Given the description of an element on the screen output the (x, y) to click on. 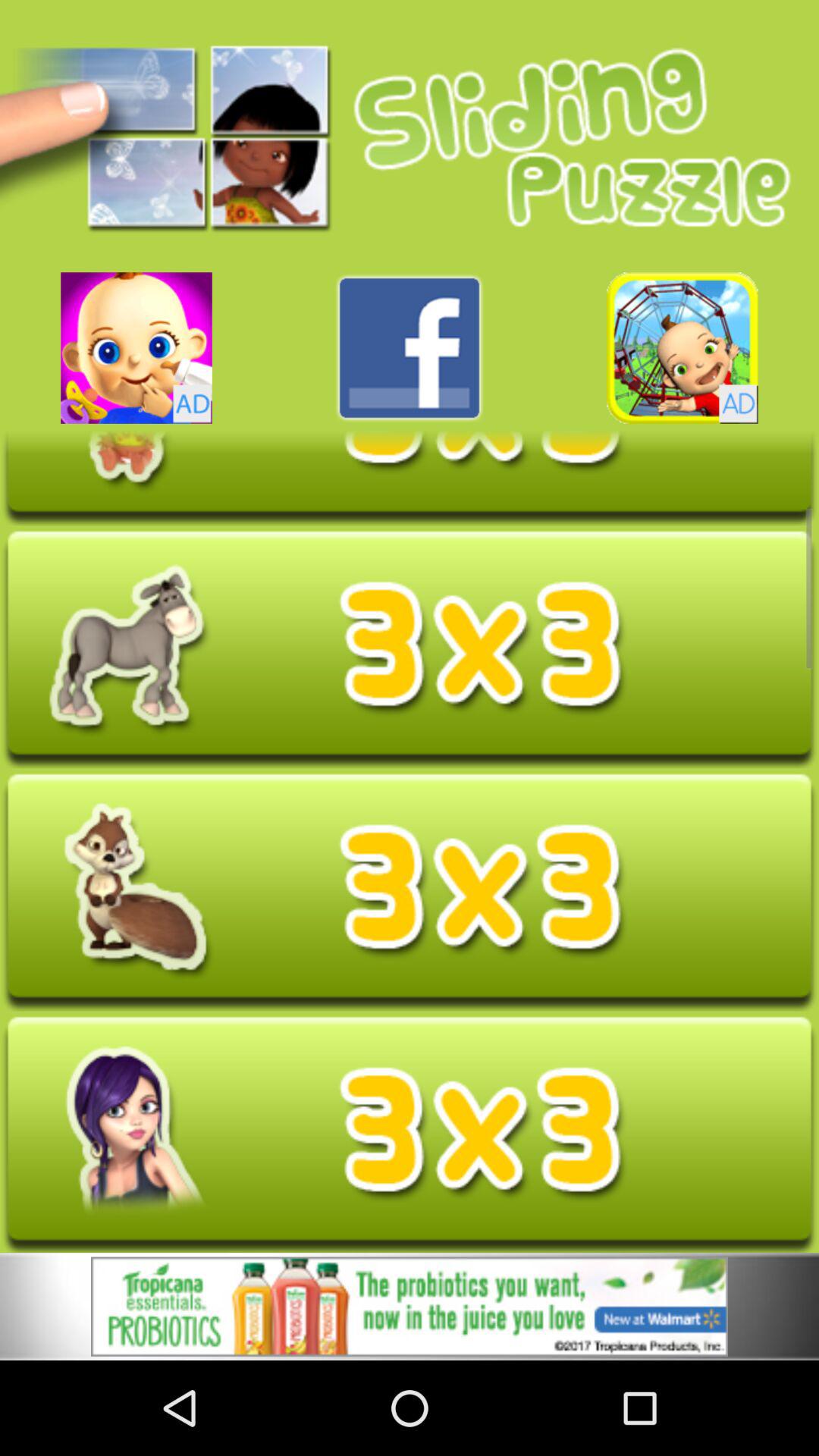
click level (409, 1134)
